Given the description of an element on the screen output the (x, y) to click on. 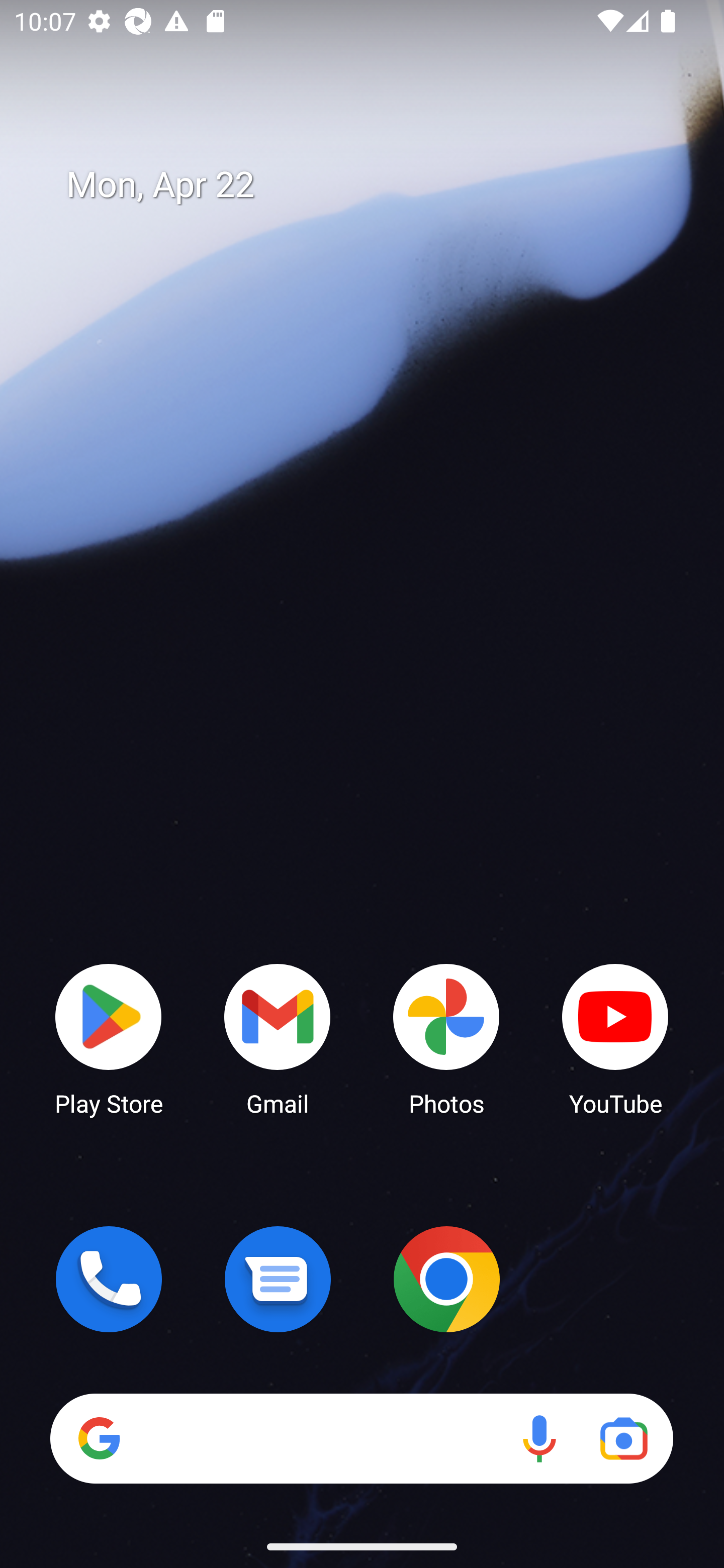
Mon, Apr 22 (375, 184)
Play Store (108, 1038)
Gmail (277, 1038)
Photos (445, 1038)
YouTube (615, 1038)
Phone (108, 1279)
Messages (277, 1279)
Chrome (446, 1279)
Search Voice search Google Lens (361, 1438)
Voice search (539, 1438)
Google Lens (623, 1438)
